Given the description of an element on the screen output the (x, y) to click on. 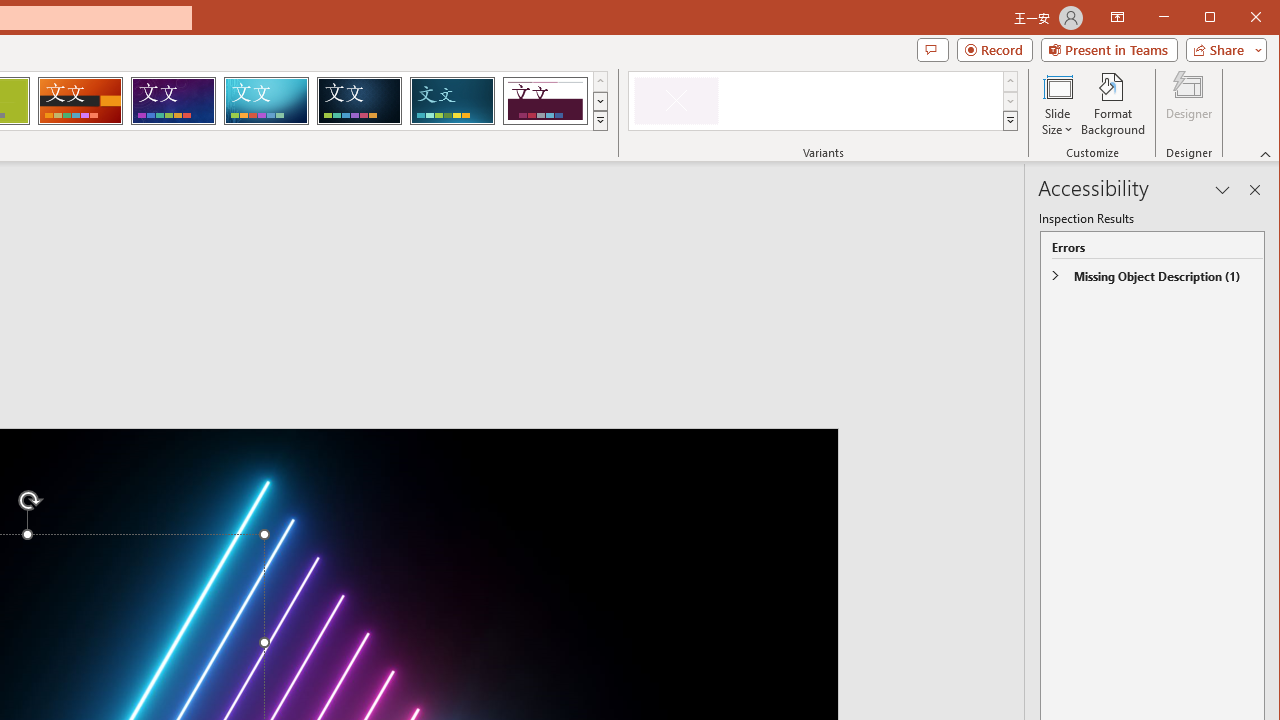
Depth (452, 100)
Variants (1010, 120)
Dividend (545, 100)
